Given the description of an element on the screen output the (x, y) to click on. 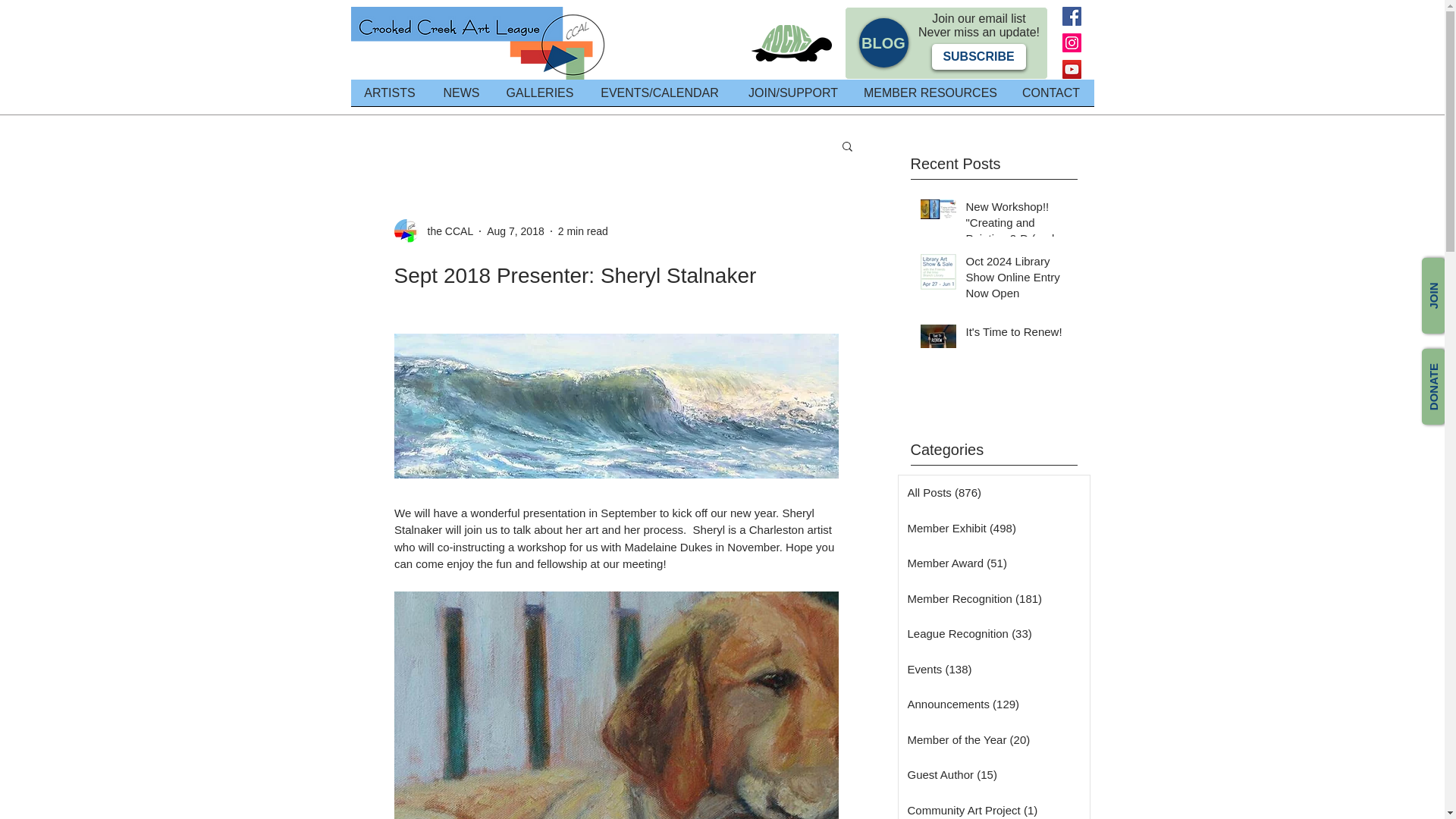
BLOG (883, 42)
the CCAL (446, 230)
CCAL 25th Anniversary Logo  (480, 42)
2 min read (582, 230)
SUBSCRIBE (978, 56)
MEMBER RESOURCES (929, 97)
Turtle ROCKS.png (791, 43)
NEWS (462, 97)
Aug 7, 2018 (515, 230)
GALLERIES (540, 97)
